Given the description of an element on the screen output the (x, y) to click on. 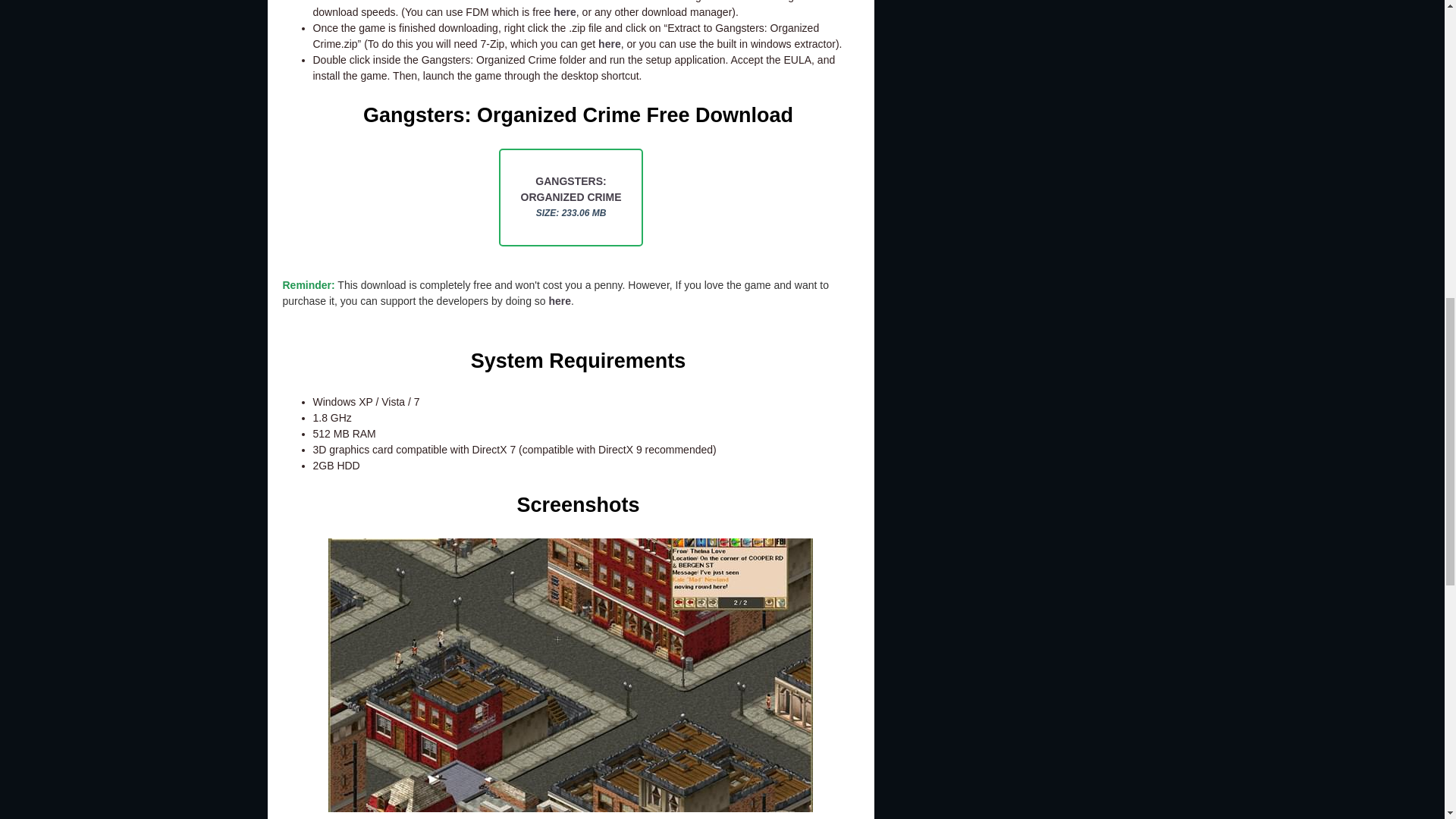
here (609, 43)
here (571, 197)
here (564, 11)
